Given the description of an element on the screen output the (x, y) to click on. 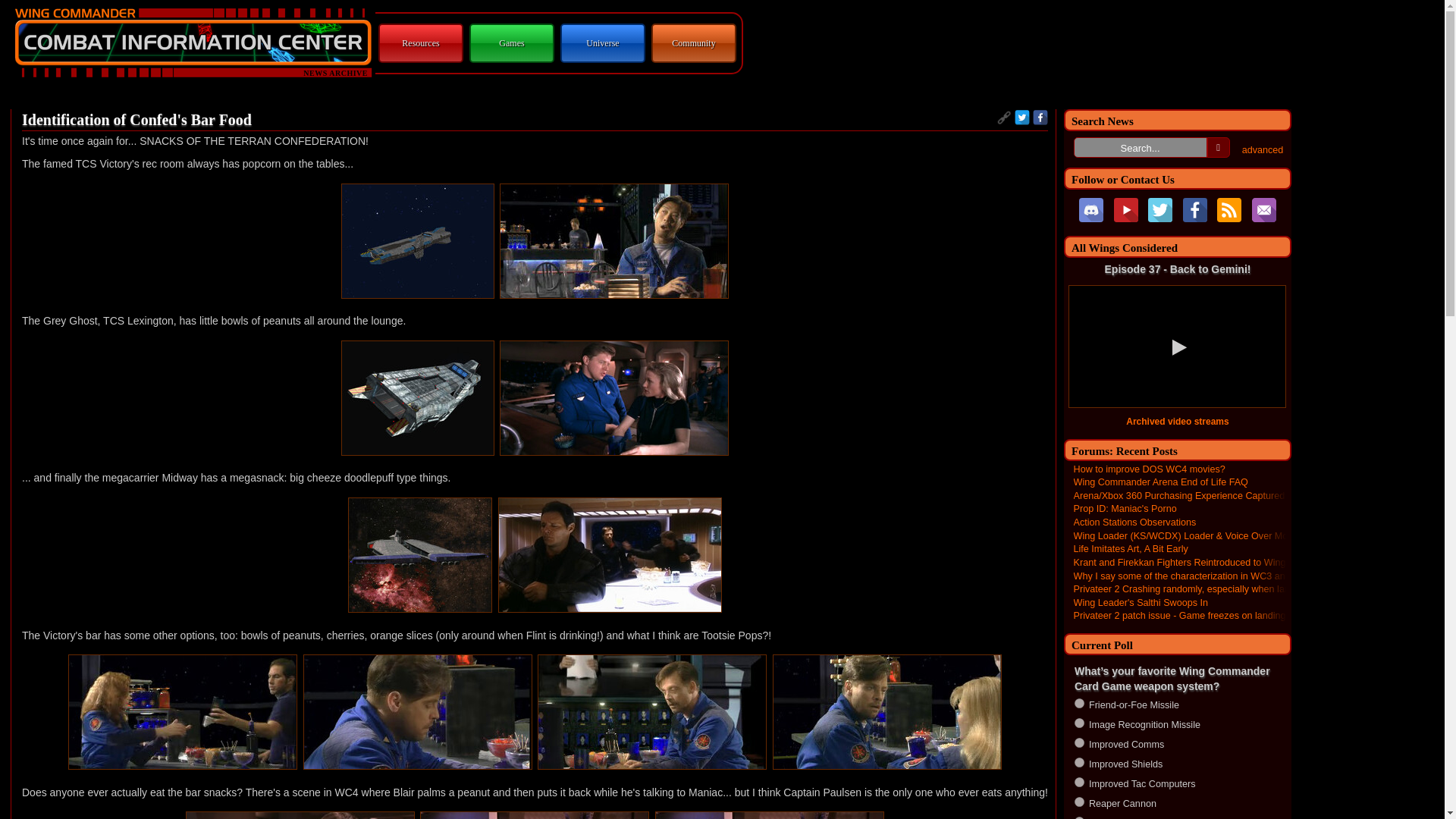
Share on Facebook (1040, 117)
Follow us on Facebook (1194, 209)
Discord chat with staff and fans (1090, 209)
4 (1079, 762)
Follow us on Twitter (1160, 209)
RSS news feed (1229, 209)
5 (1079, 782)
2 (1079, 723)
Share on Twitter (1021, 117)
1 (1079, 702)
Advanced search (1262, 149)
Follow us on YouTube (1125, 209)
3 (1079, 742)
Games (511, 42)
